Given the description of an element on the screen output the (x, y) to click on. 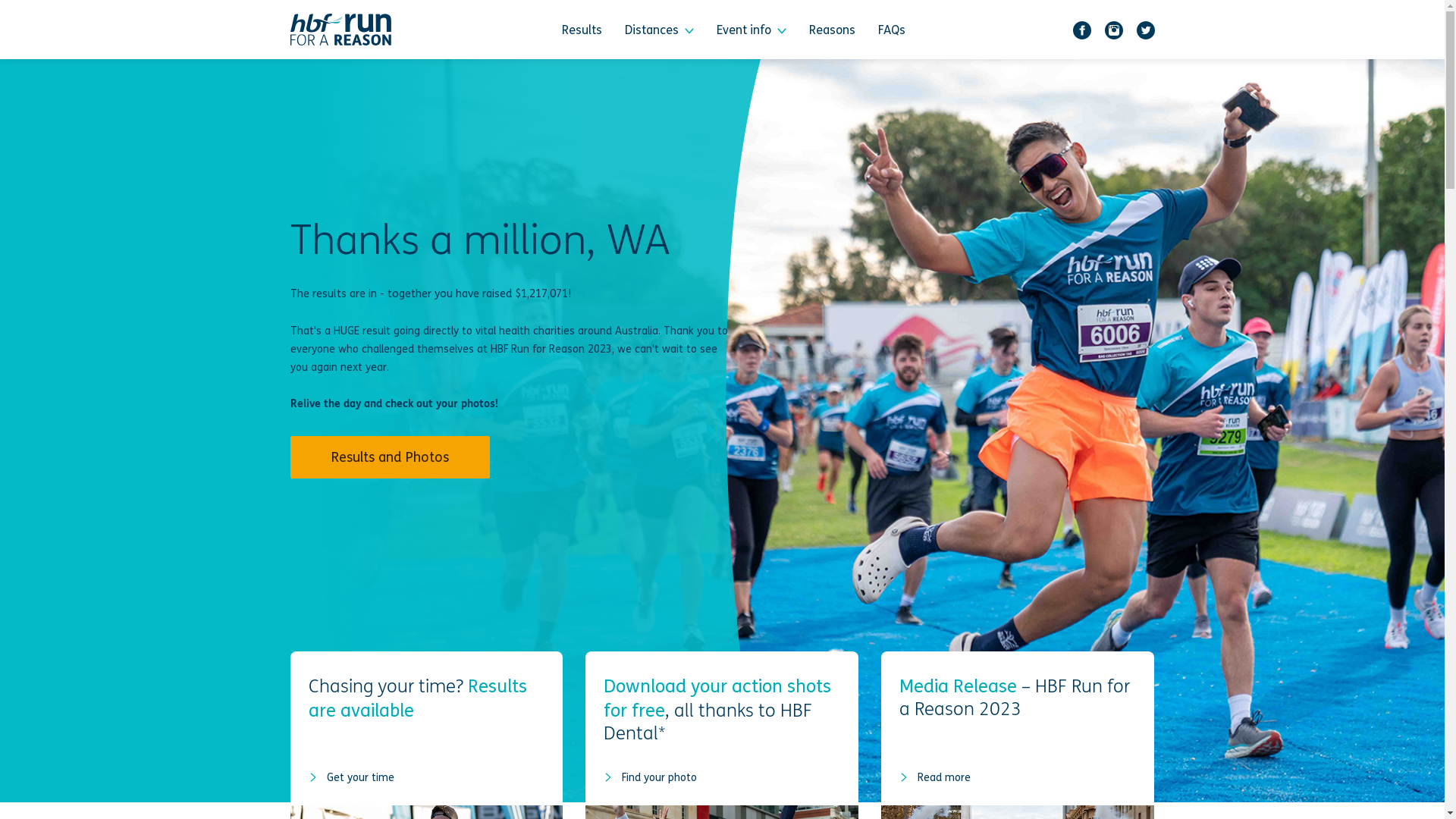
Instagram Element type: text (1113, 29)
Event info Element type: text (751, 29)
Distances Element type: text (659, 29)
Results Element type: text (581, 29)
Facebook Element type: text (1081, 29)
FAQs Element type: text (891, 29)
Reasons Element type: text (831, 29)
Results and Photos Element type: text (389, 457)
Twitter Element type: text (1145, 29)
